Given the description of an element on the screen output the (x, y) to click on. 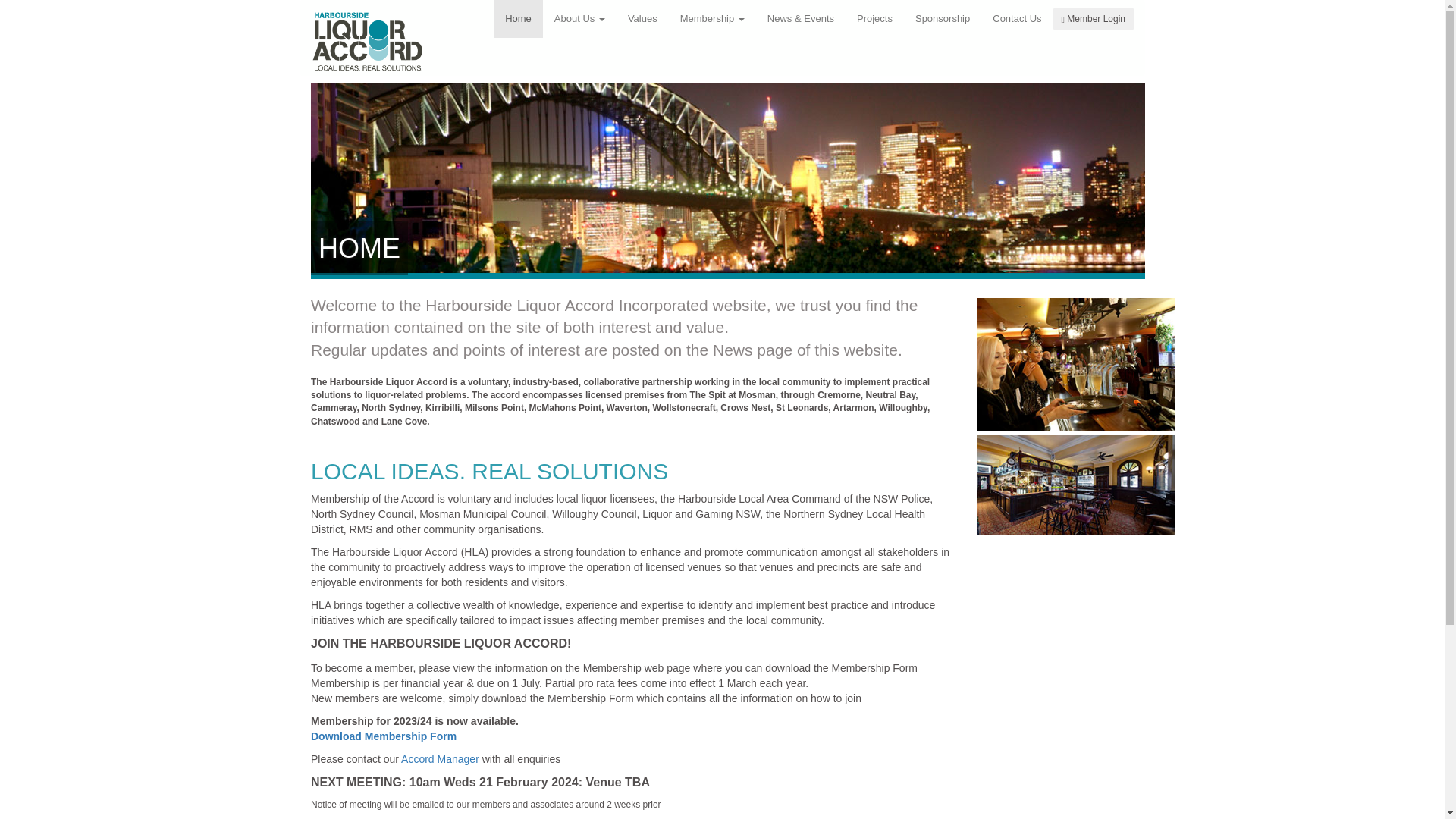
Membership Element type: text (712, 18)
Contact Us Element type: text (1016, 18)
Projects Element type: text (874, 18)
Values Element type: text (642, 18)
Member Login Element type: text (1093, 18)
News & Events Element type: text (800, 18)
Sponsorship Element type: text (942, 18)
Accord Manager Element type: text (440, 759)
About Us Element type: text (579, 18)
Download Membership Form Element type: text (383, 736)
Home Element type: text (517, 18)
